Given the description of an element on the screen output the (x, y) to click on. 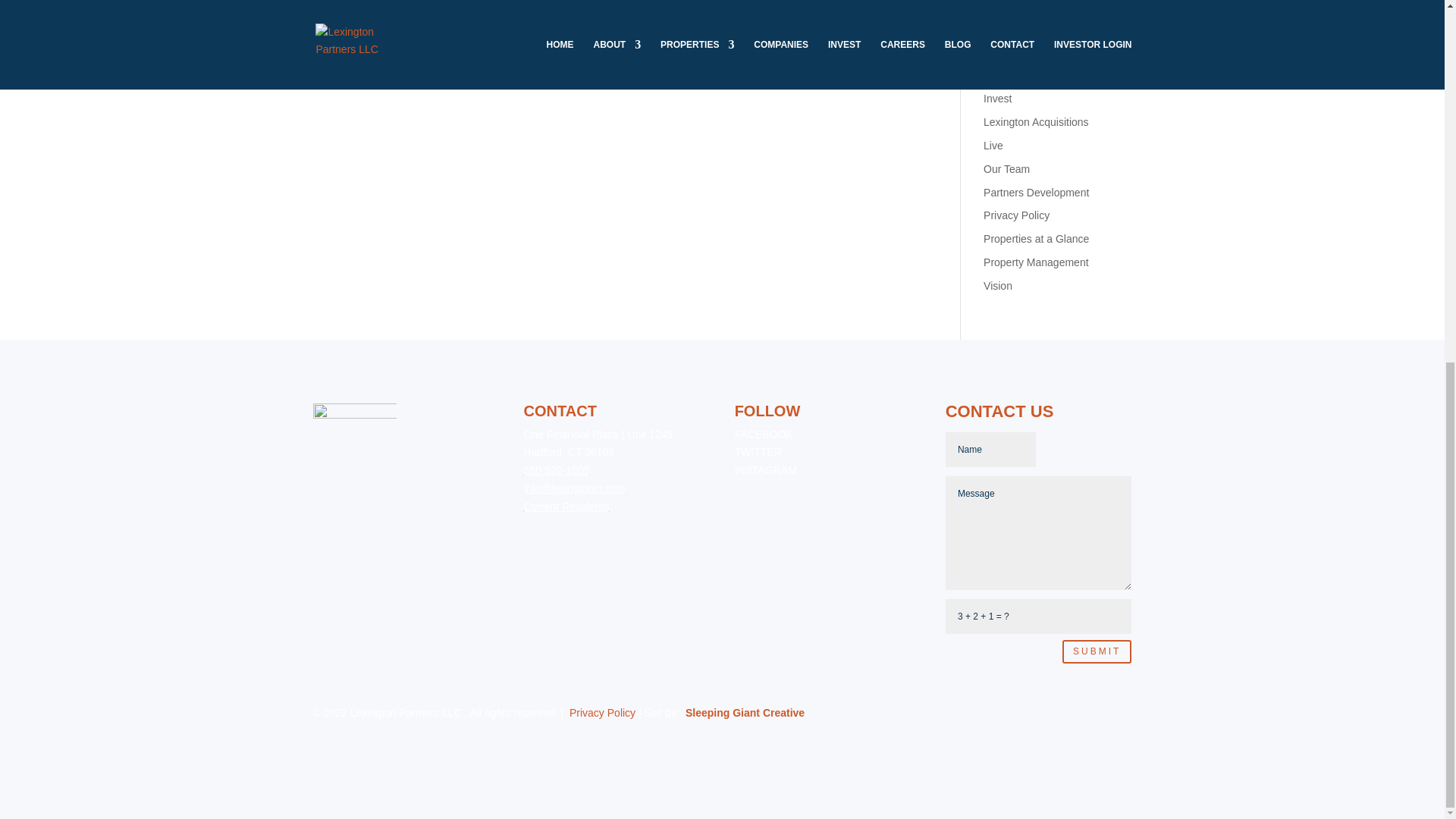
Privacy Policy (1016, 215)
Construction Management (1046, 5)
Partners Development (1036, 192)
Live (993, 145)
Lexington Acquisitions (1036, 121)
Home (997, 75)
Properties at a Glance (1036, 238)
Our Team (1006, 168)
Contact Us: One Park (1035, 51)
